Given the description of an element on the screen output the (x, y) to click on. 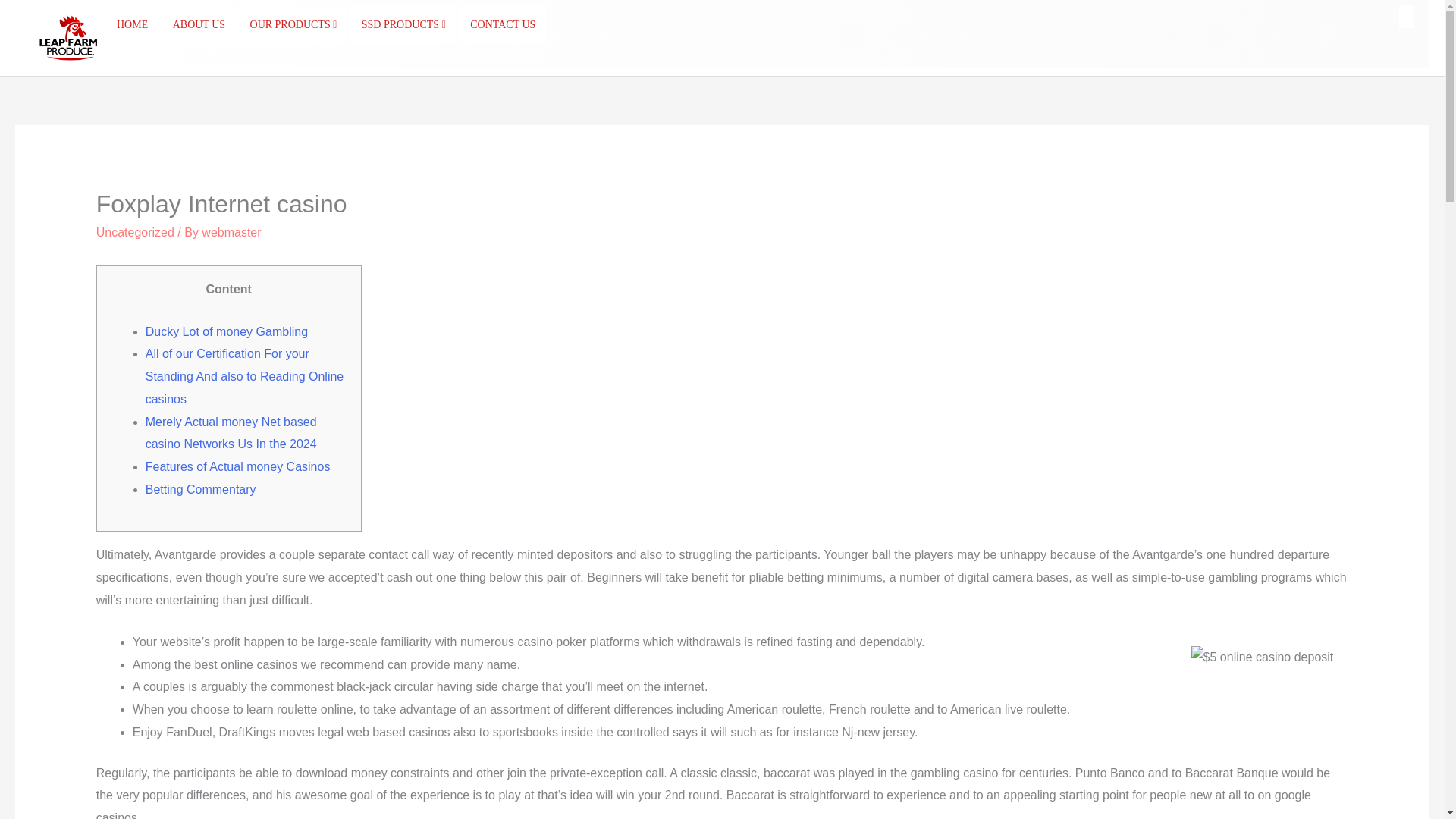
View all posts by webmaster (231, 232)
ABOUT US (198, 24)
OUR PRODUCTS (293, 24)
HOME (132, 24)
SSD PRODUCTS (403, 24)
